Given the description of an element on the screen output the (x, y) to click on. 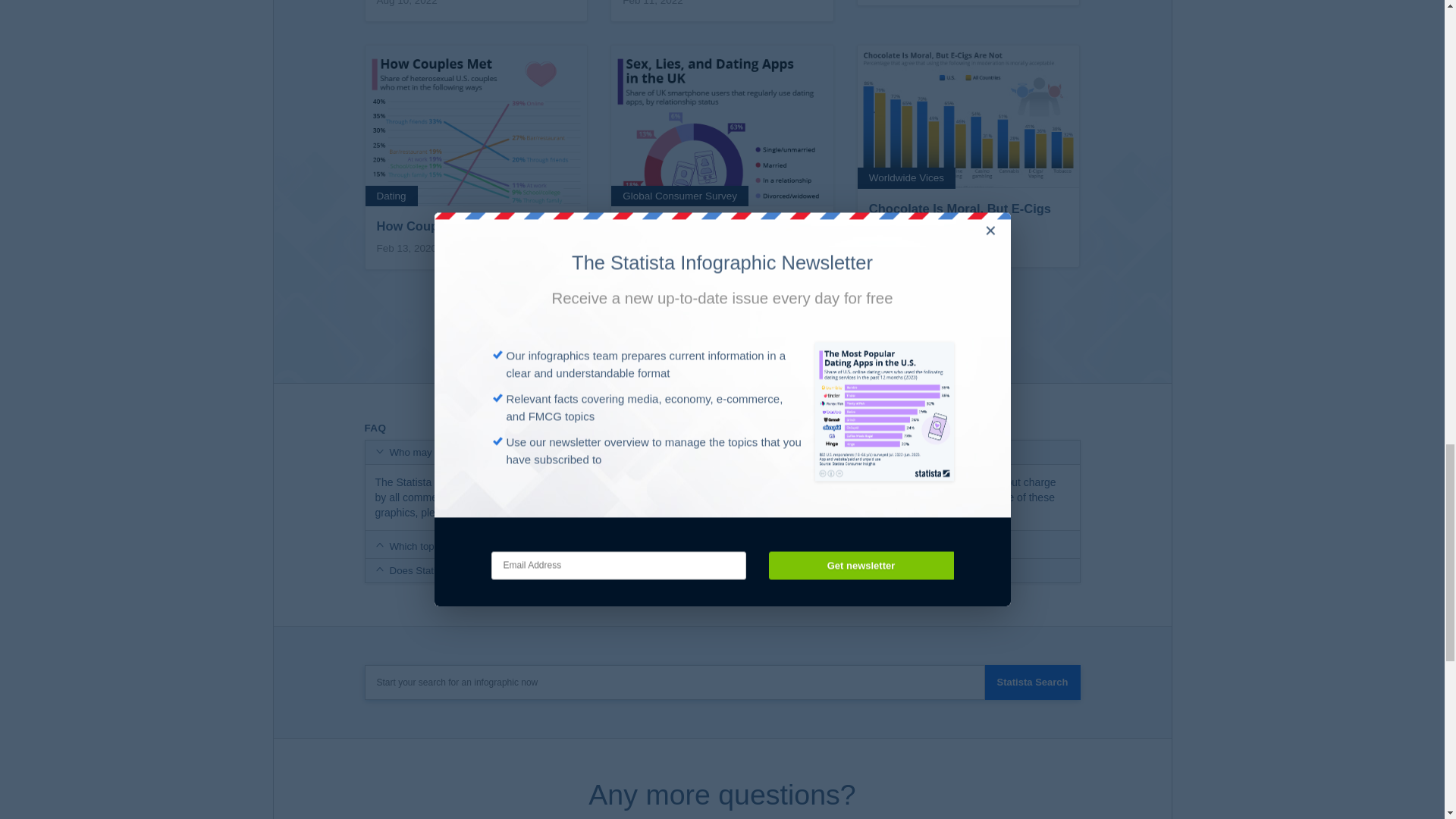
The People Looking for Love In the U.S. (476, 11)
Pandemic Hampers Last-Minute Valentine Efforts (722, 11)
How Couples Met (476, 165)
Sex, Lies, and Dating Apps in the UK (722, 165)
Statista Search (1032, 682)
Chocolate Is Moral, But E-Cigs Are Not (968, 165)
How the World Dates Online (968, 11)
